Given the description of an element on the screen output the (x, y) to click on. 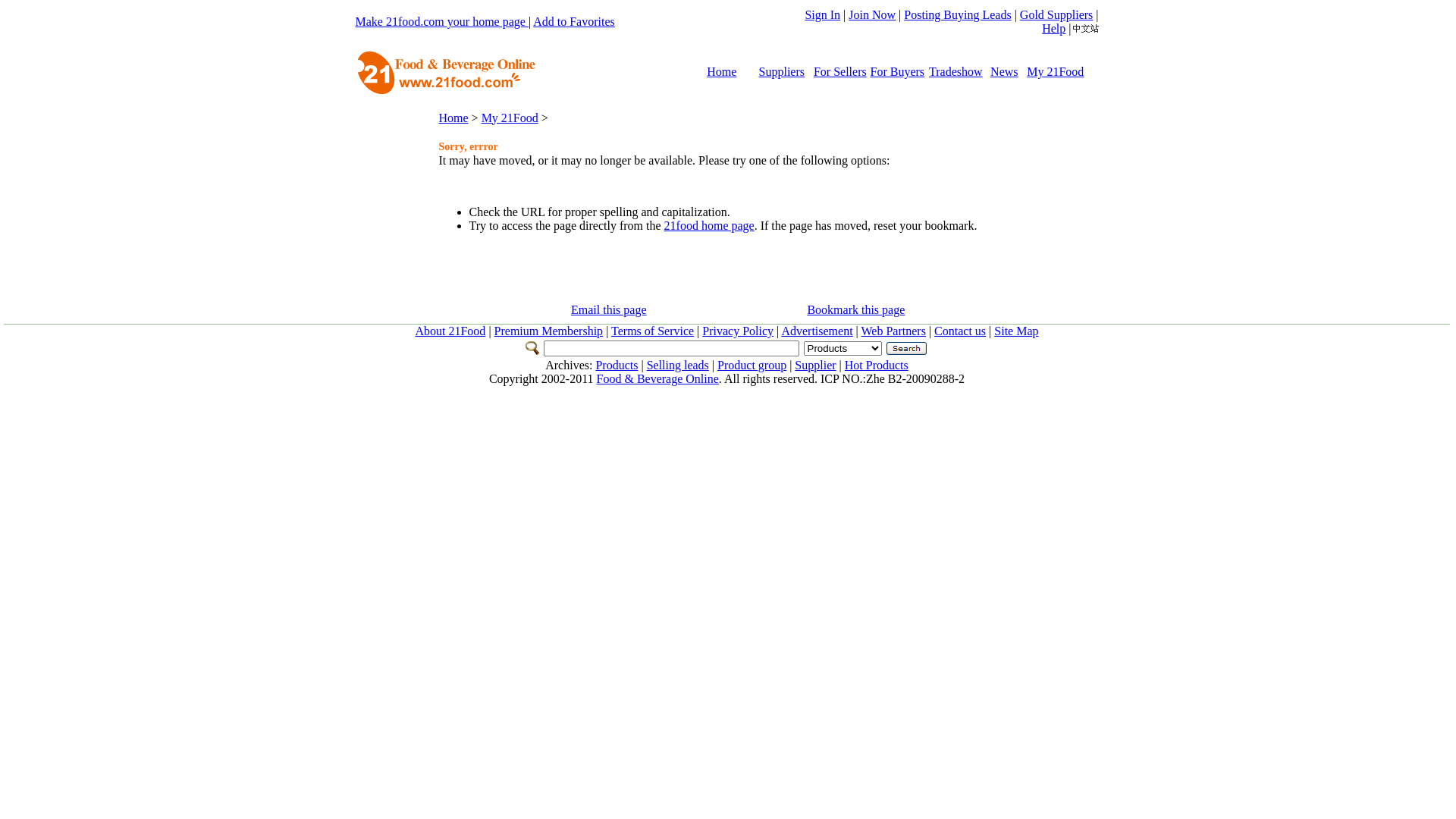
About 21Food Element type: text (449, 330)
Gold Suppliers Element type: text (1055, 14)
Bookmark this page Element type: text (855, 309)
Site Map Element type: text (1016, 330)
21food home page Element type: text (709, 225)
News Element type: text (1003, 71)
Web Partners Element type: text (893, 330)
My 21Food Element type: text (1054, 71)
My 21Food Element type: text (509, 116)
Email this page Element type: text (608, 309)
Sign In Element type: text (822, 14)
Food & Beverage Online Element type: text (657, 378)
Join Now Element type: text (871, 14)
Add to Favorites Element type: text (574, 21)
Advertisement Element type: text (816, 330)
For Sellers Element type: text (839, 71)
Suppliers Element type: text (781, 71)
Hot Products Element type: text (876, 364)
Selling leads Element type: text (677, 364)
Home Element type: text (721, 71)
Tradeshow Element type: text (955, 71)
Terms of Service Element type: text (652, 330)
Posting Buying Leads Element type: text (956, 14)
Products Element type: text (616, 364)
Help Element type: text (1053, 27)
Product group Element type: text (751, 364)
Make 21food.com your home page Element type: text (440, 21)
For Buyers Element type: text (897, 71)
Privacy Policy Element type: text (737, 330)
Premium Membership Element type: text (548, 330)
Home Element type: text (452, 116)
Contact us Element type: text (959, 330)
Supplier Element type: text (814, 364)
